Given the description of an element on the screen output the (x, y) to click on. 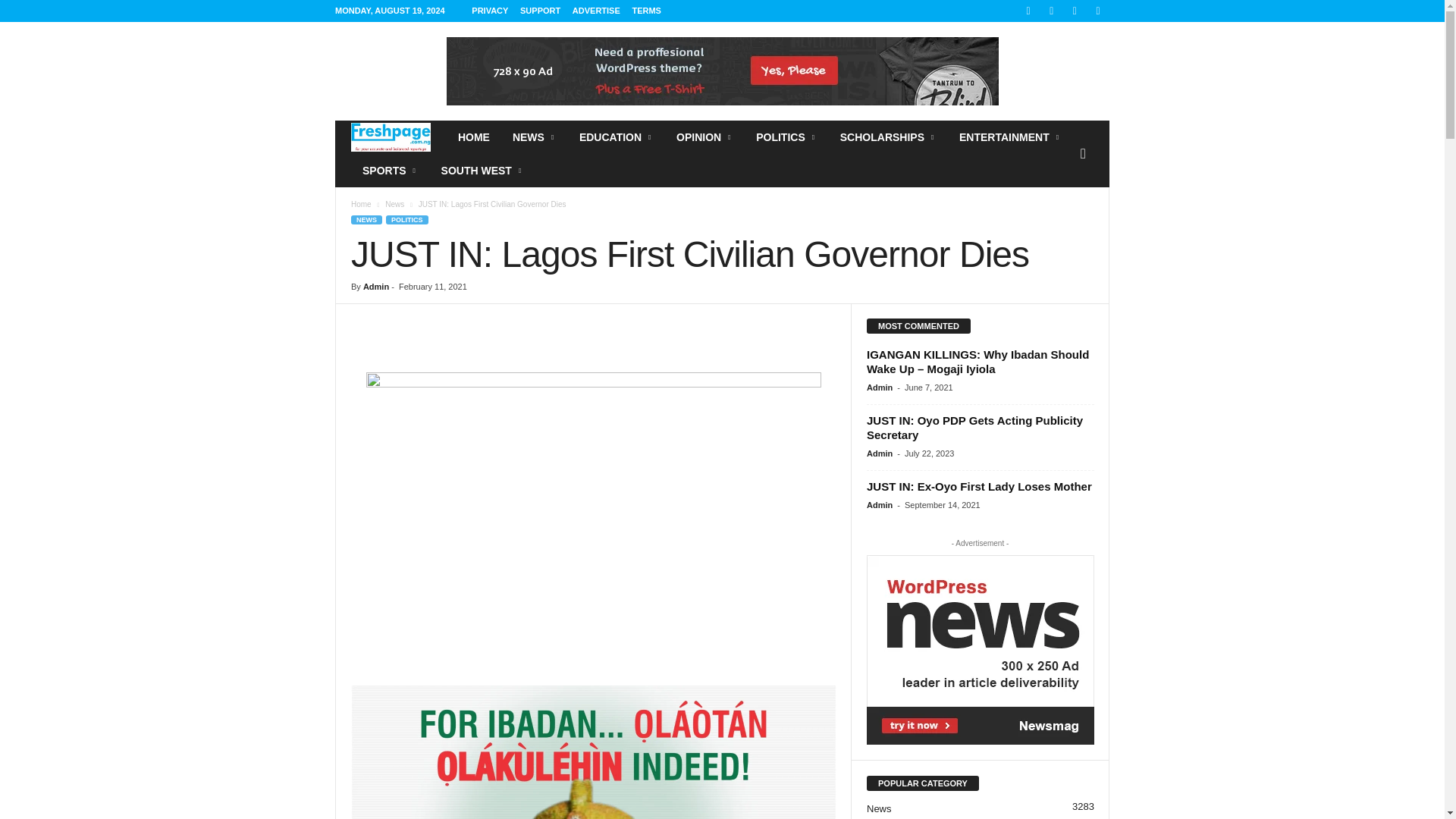
Freshpage Nigeria (390, 137)
PRIVACY (489, 10)
TERMS (646, 10)
HOME (473, 136)
ADVERTISE (596, 10)
NEWS (533, 136)
SUPPORT (539, 10)
